Given the description of an element on the screen output the (x, y) to click on. 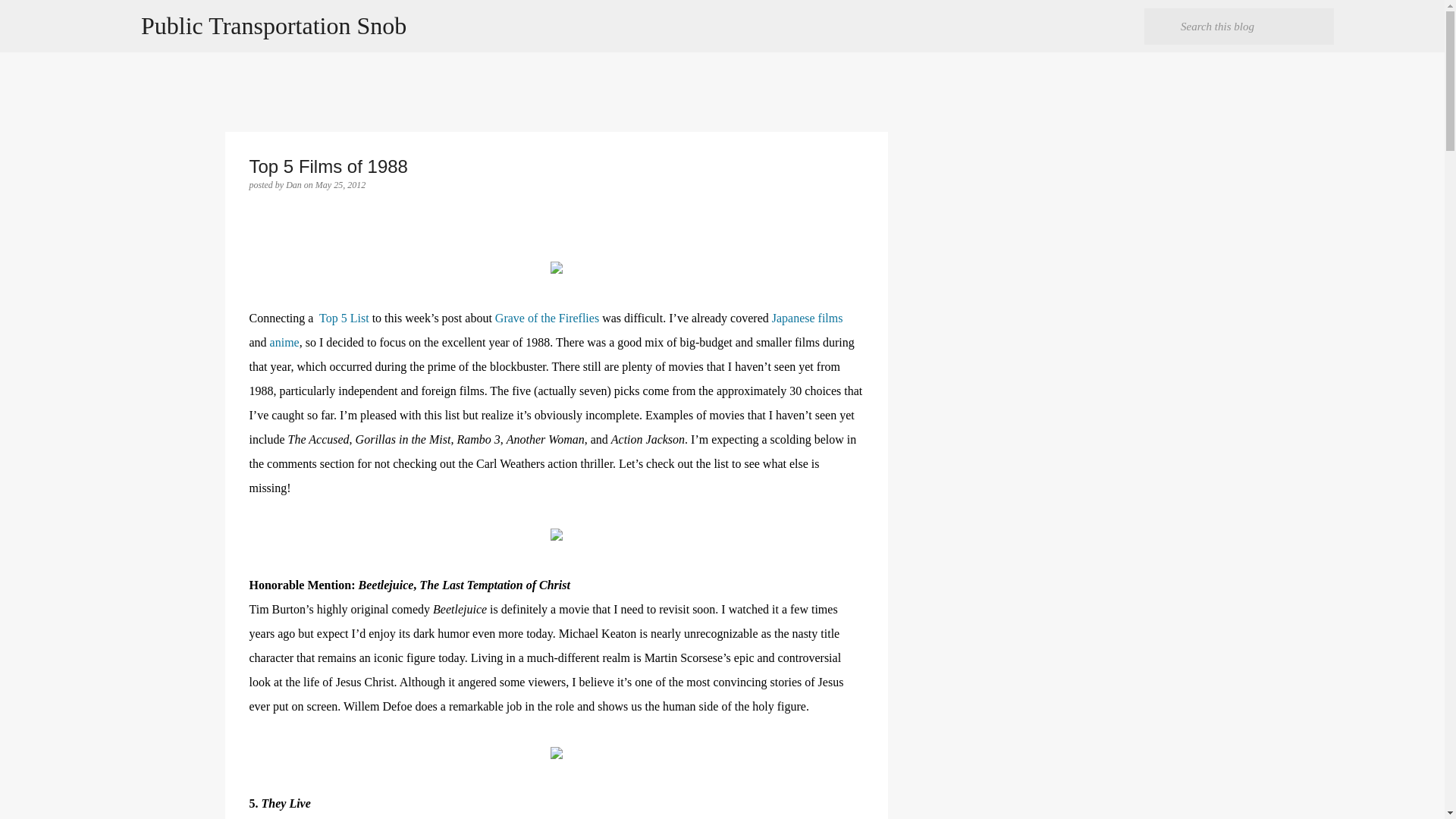
author profile (294, 184)
Grave of the Fireflies (546, 318)
anime (284, 341)
Japanese films (807, 318)
Public Transportation Snob (273, 25)
Dan (294, 184)
May 25, 2012 (340, 184)
permanent link (340, 184)
Top 5 List (343, 318)
